Given the description of an element on the screen output the (x, y) to click on. 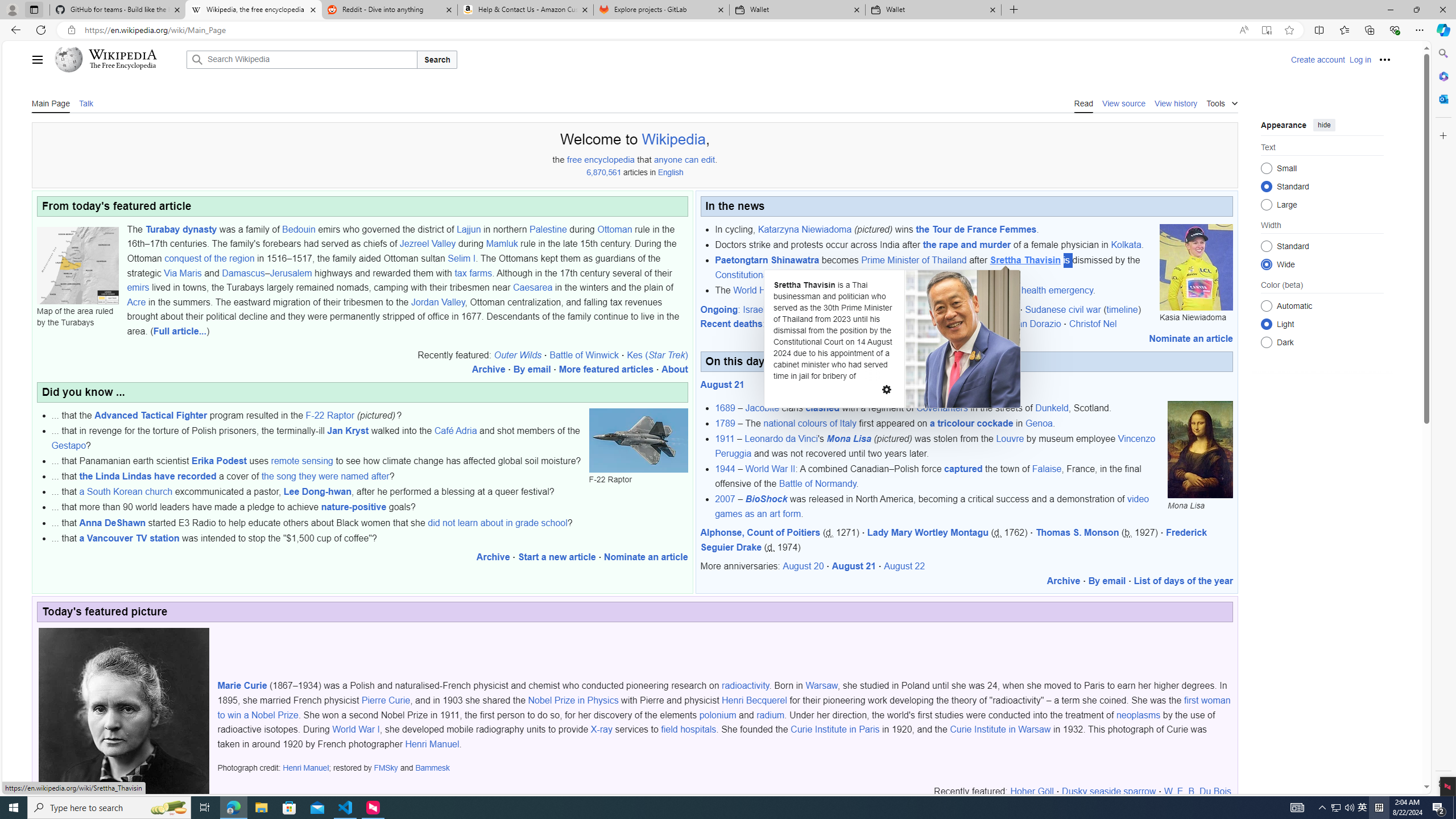
Christof Nel (1092, 324)
Ongoing (719, 309)
Help & Contact Us - Amazon Customer Service (525, 9)
Wallet (933, 9)
Russian invasion of Ukraine (919, 309)
Kolkata (1125, 244)
Kes (Star Trek) (657, 354)
Talk (85, 102)
Dan Dorazio (1035, 324)
Kes (Star Trek) (657, 354)
August 21 (853, 566)
English (671, 172)
